Given the description of an element on the screen output the (x, y) to click on. 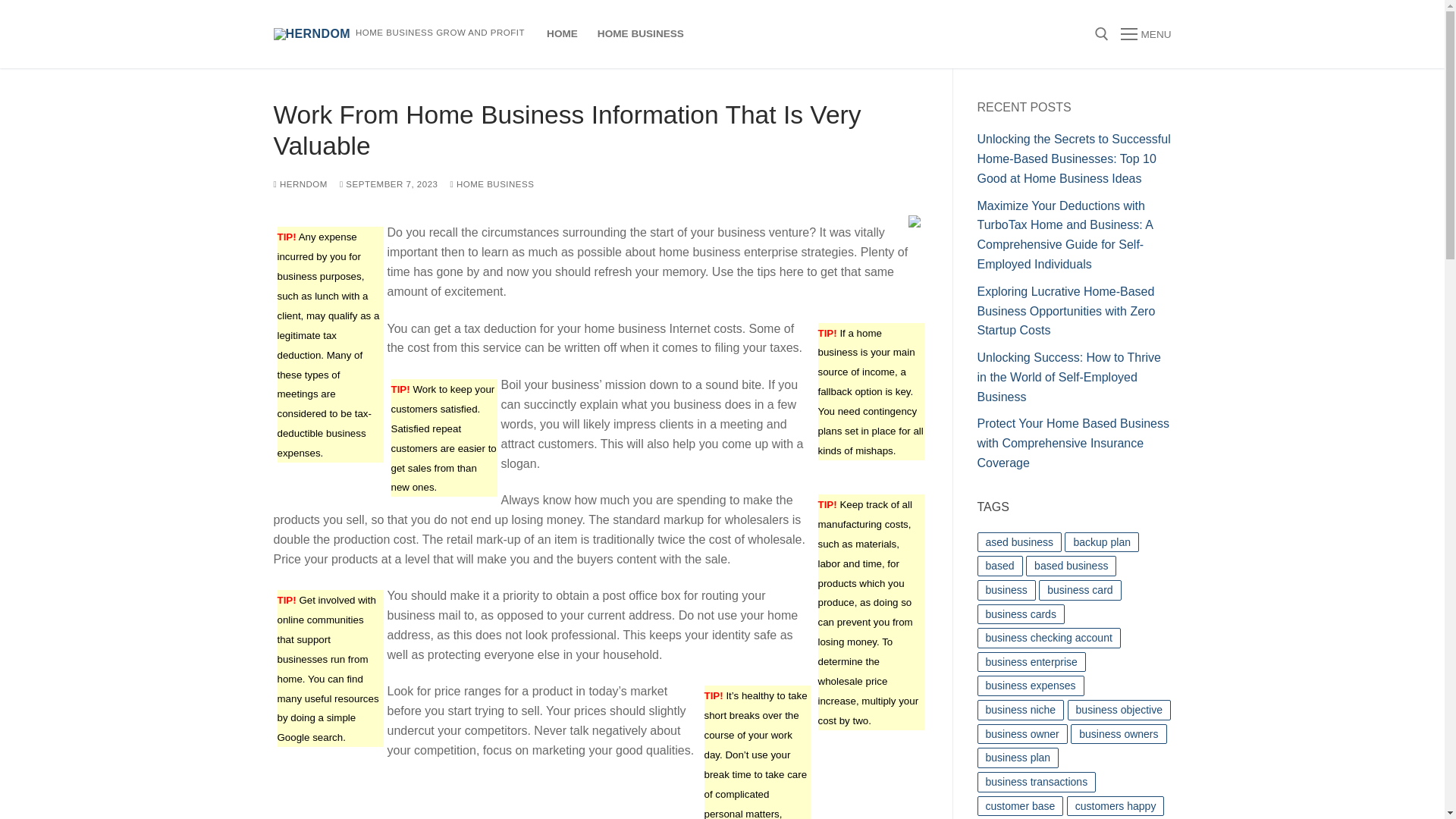
SEPTEMBER 7, 2023 (388, 184)
HOME (562, 33)
HOME BUSINESS (491, 184)
HOME BUSINESS (641, 33)
MENU (1145, 34)
HERNDOM (299, 184)
ased business (1018, 542)
